Given the description of an element on the screen output the (x, y) to click on. 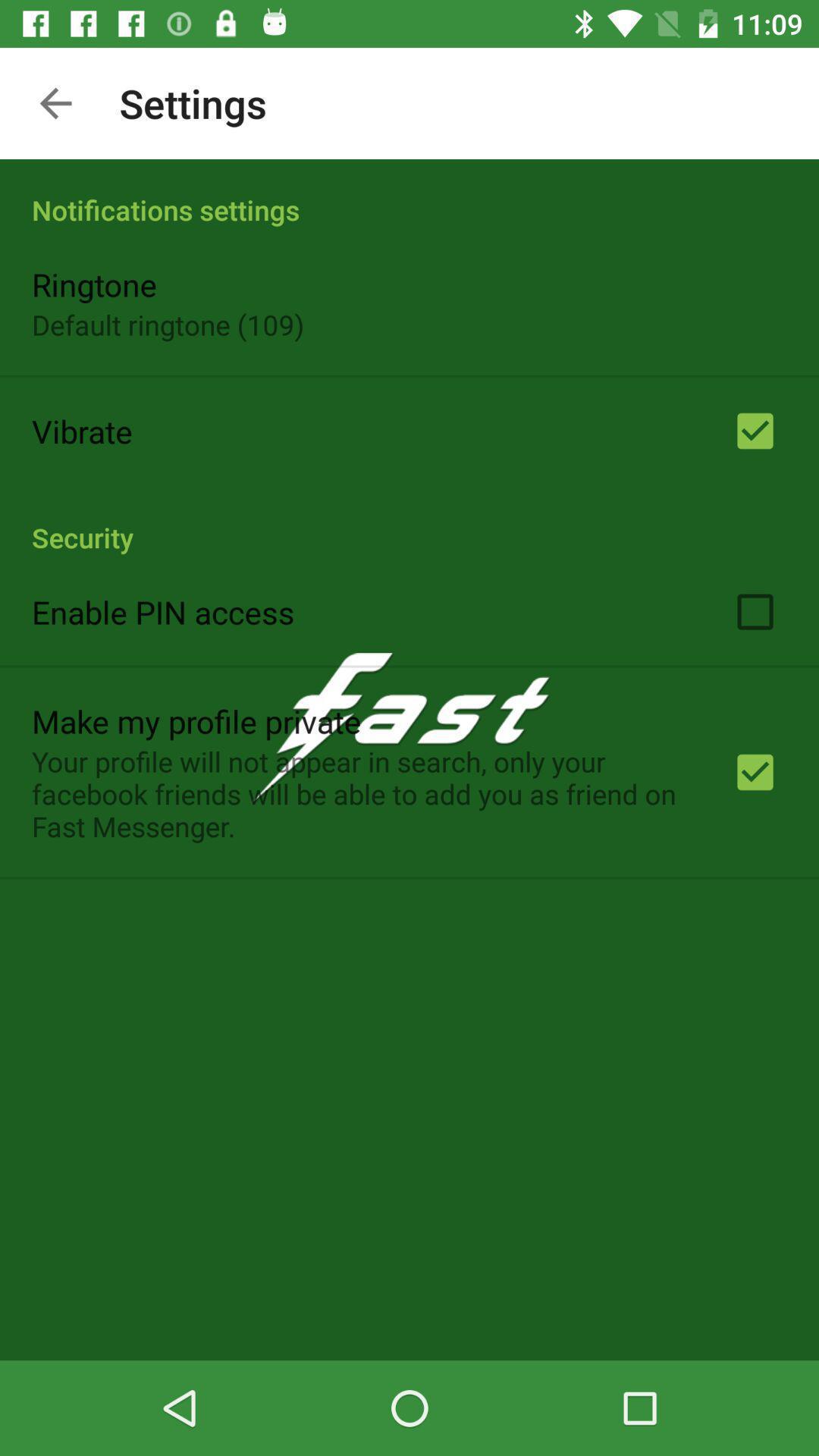
turn off the default ringtone (109) item (167, 324)
